Given the description of an element on the screen output the (x, y) to click on. 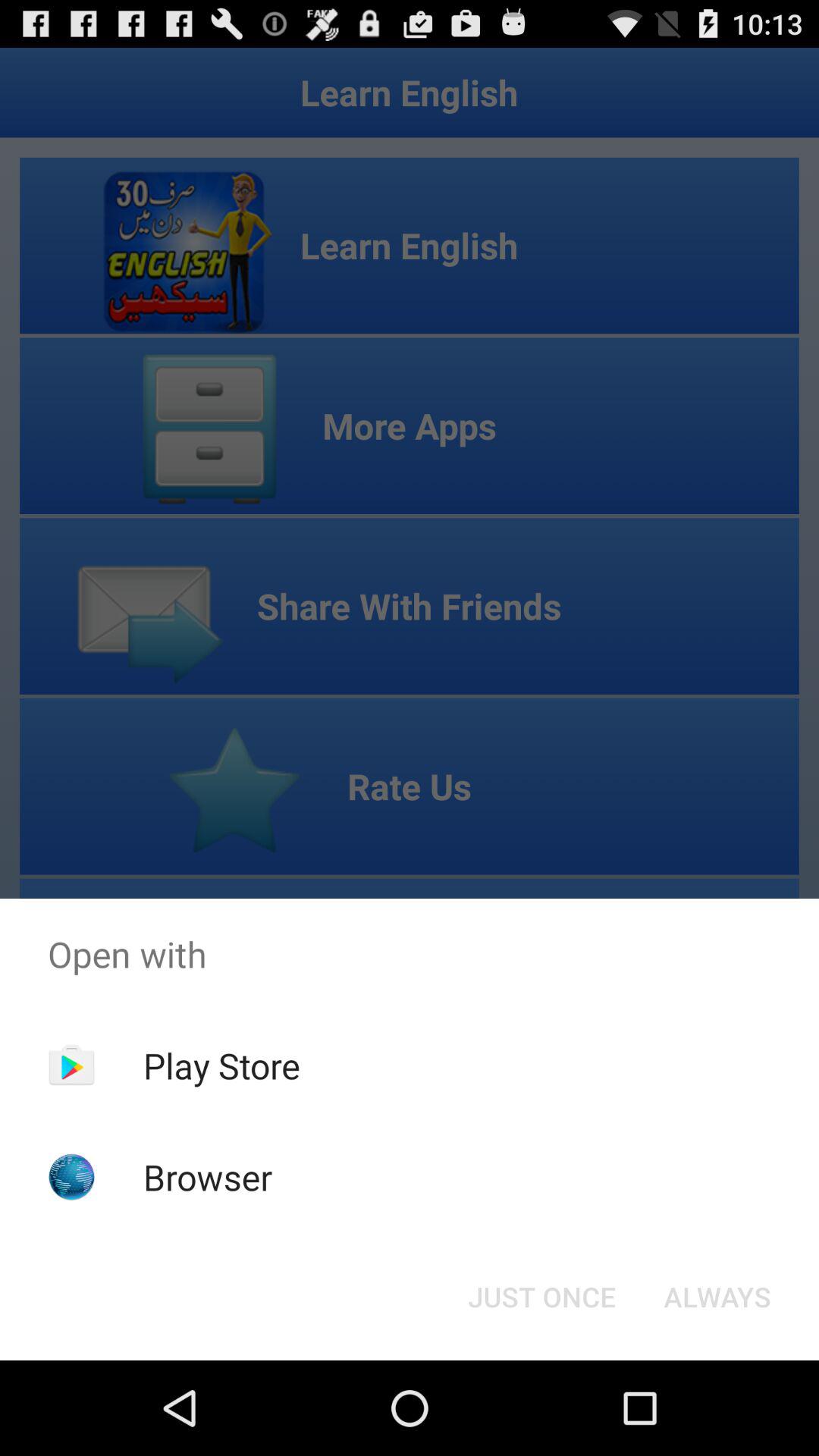
open item at the bottom right corner (717, 1296)
